Given the description of an element on the screen output the (x, y) to click on. 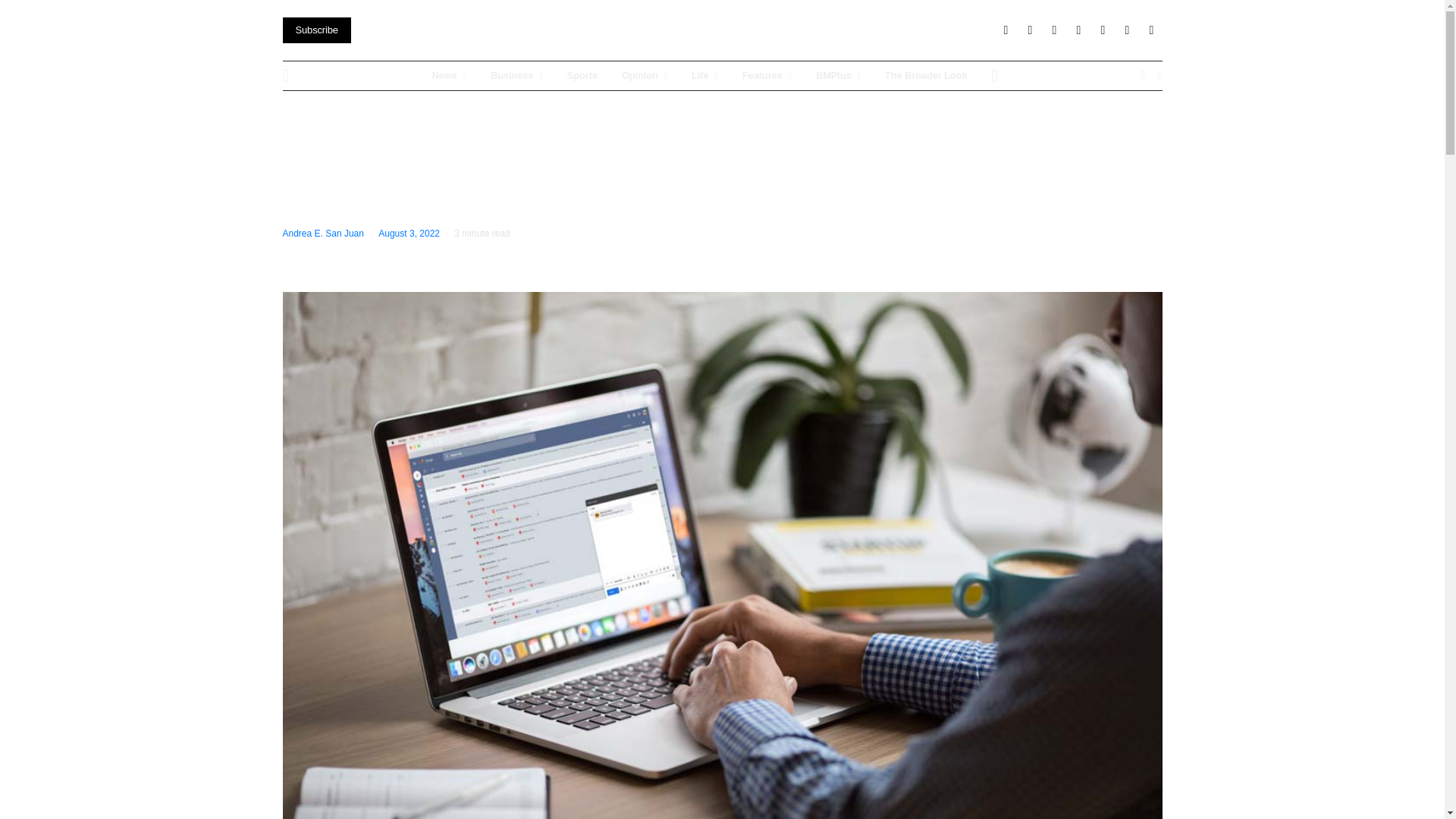
View all posts by Andrea E. San Juan (322, 233)
